Given the description of an element on the screen output the (x, y) to click on. 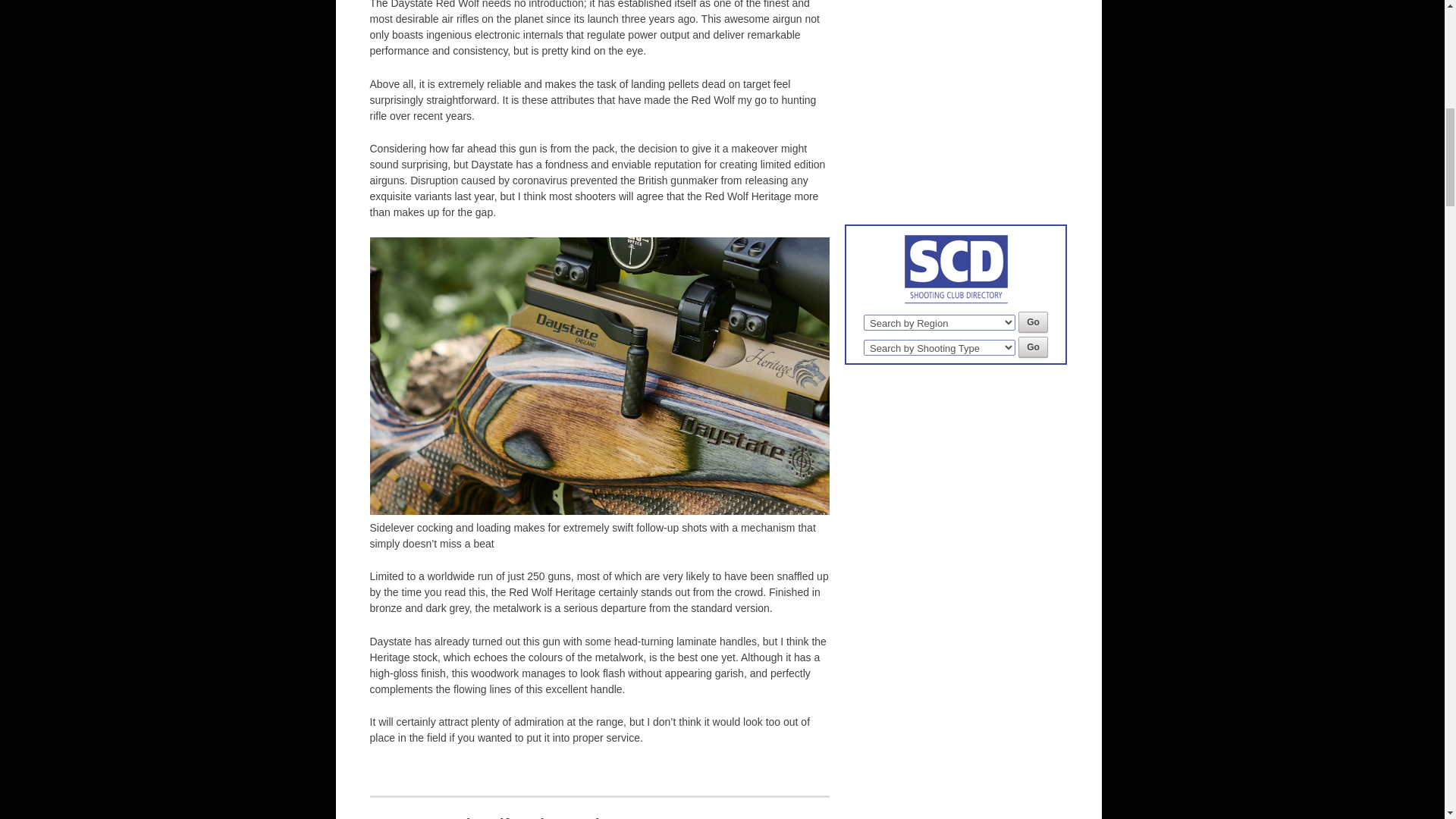
Go (1032, 346)
Go (1032, 322)
